Given the description of an element on the screen output the (x, y) to click on. 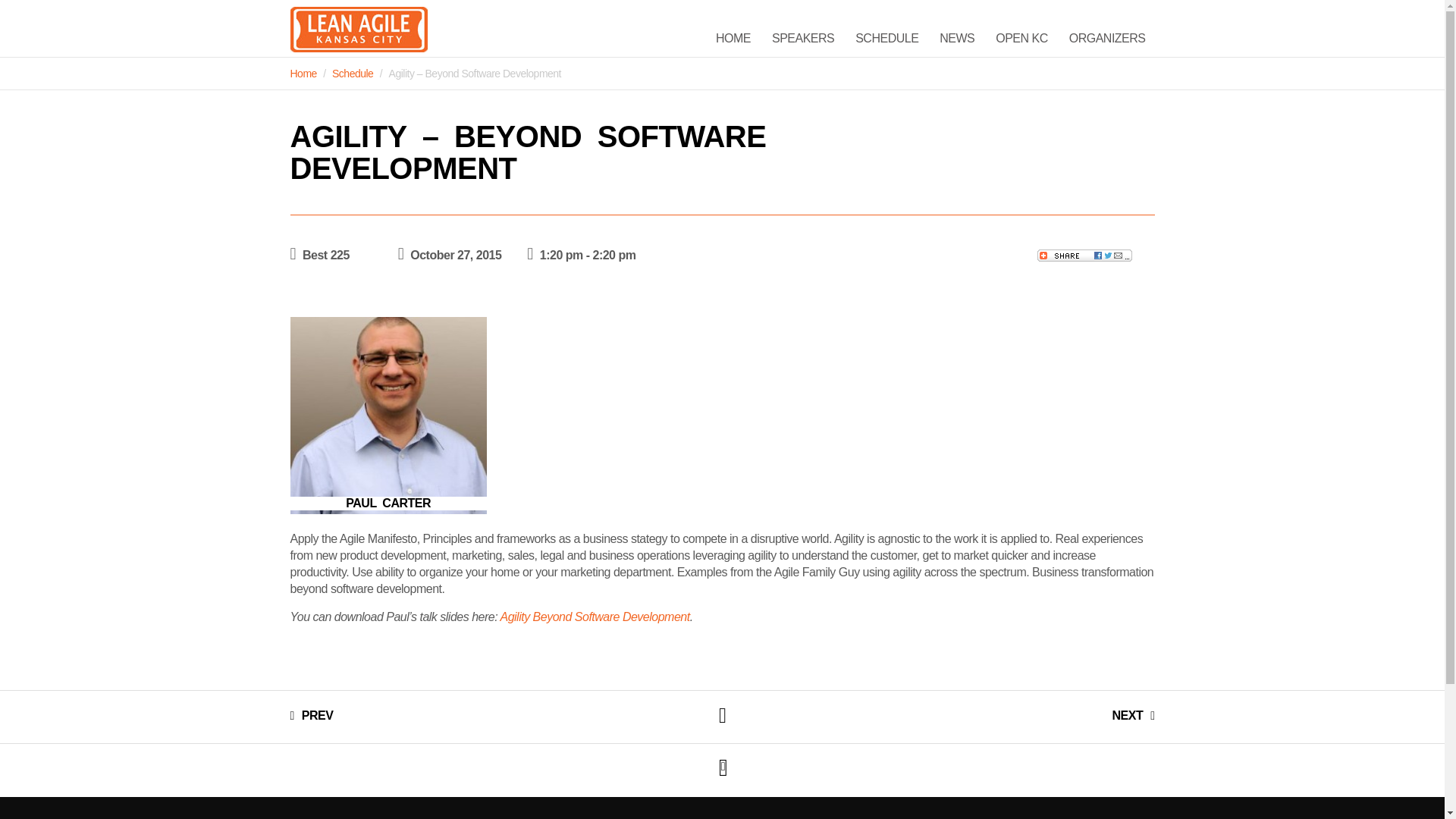
SCHEDULE (886, 39)
Look Beyond Requirements Documentation Methods (311, 714)
SPEAKERS (802, 39)
OPEN KC (1022, 39)
NEWS (957, 39)
NEXT (1133, 714)
Home (302, 73)
Agility Beyond Software Development (593, 616)
PREV (311, 714)
